Given the description of an element on the screen output the (x, y) to click on. 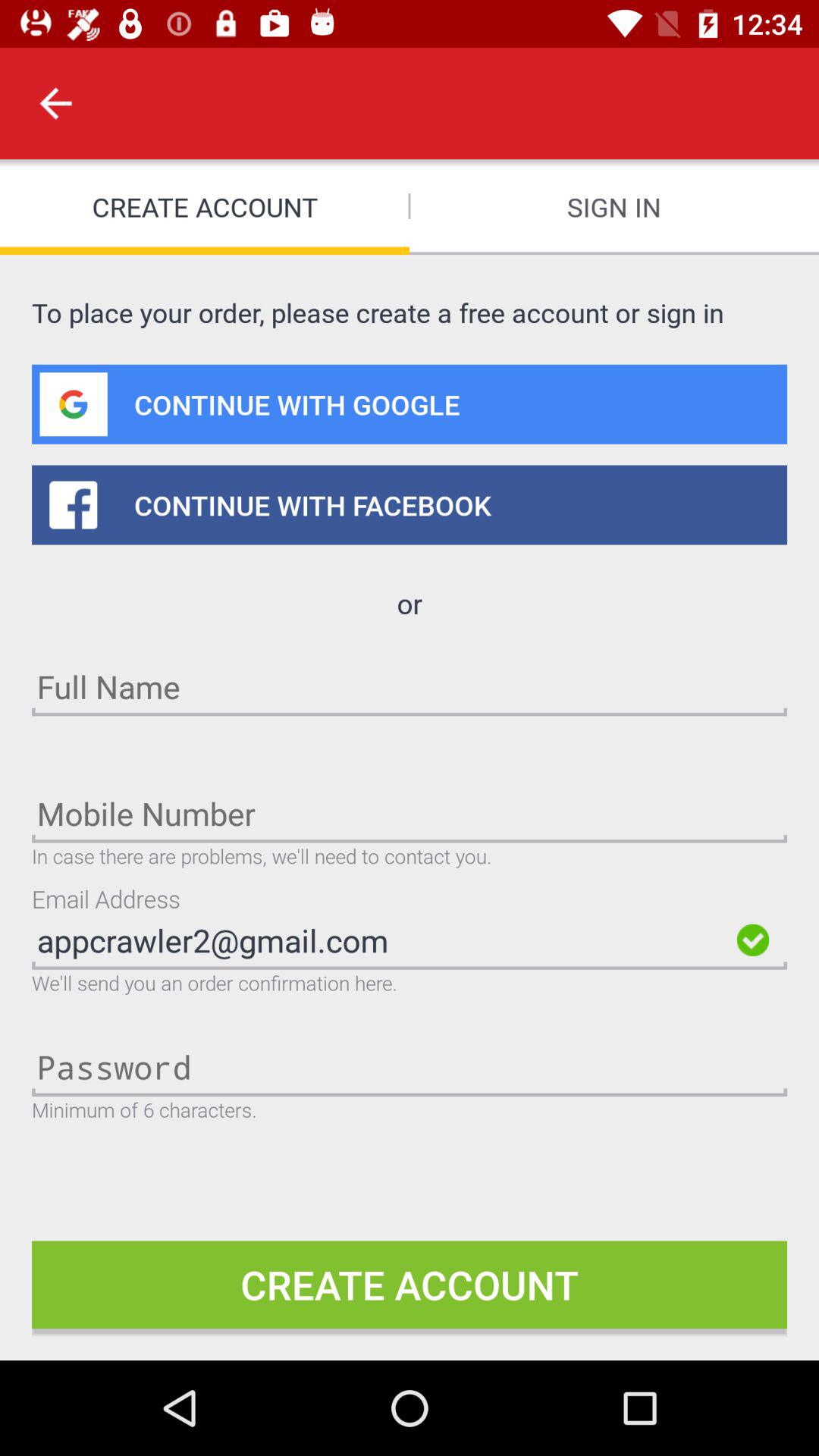
click icon above create account (55, 103)
